Given the description of an element on the screen output the (x, y) to click on. 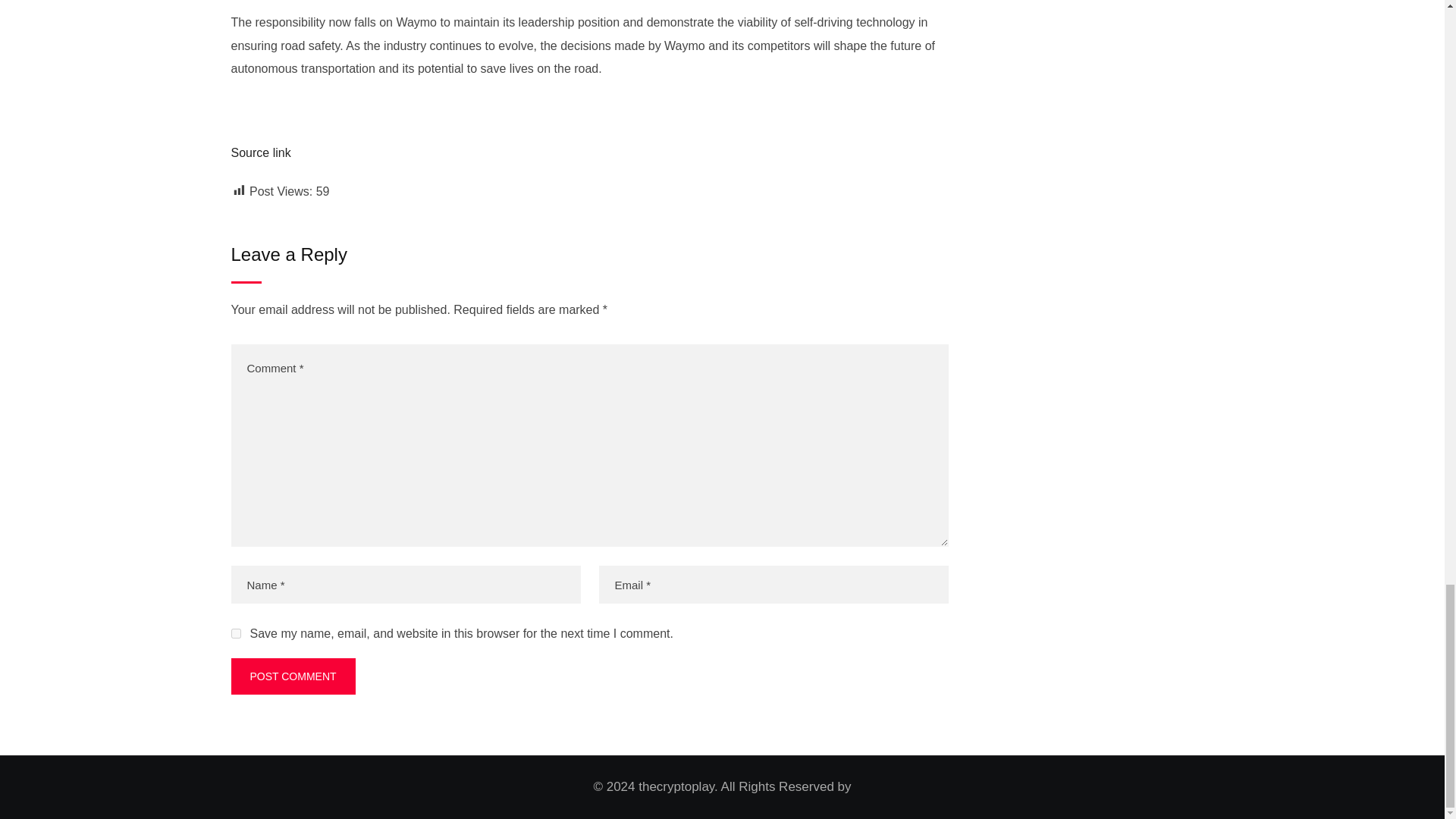
Post Comment (292, 676)
yes (235, 633)
Post Comment (292, 676)
Source link (259, 152)
